Given the description of an element on the screen output the (x, y) to click on. 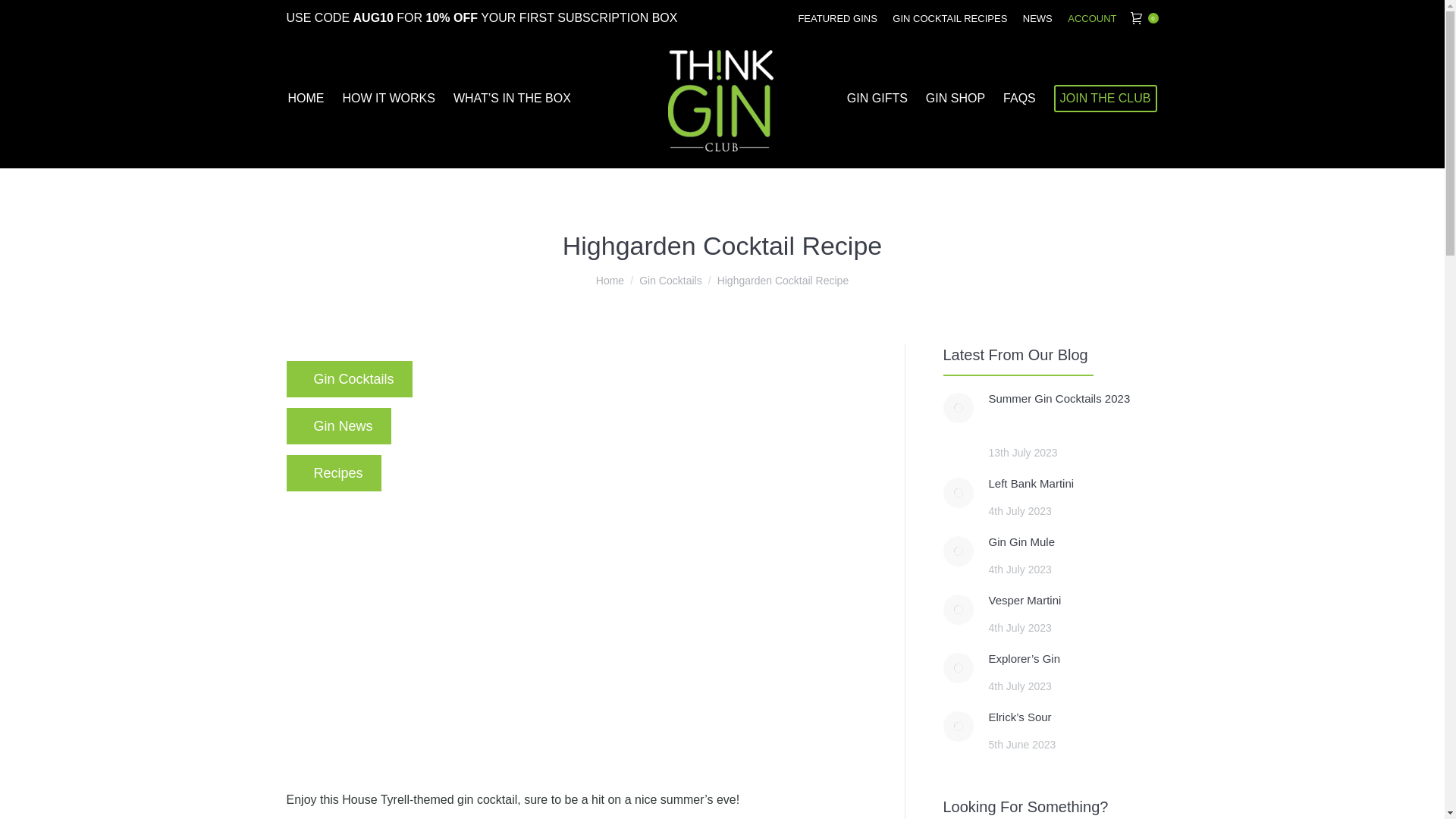
Recipes (333, 473)
Gin Cocktails (670, 280)
Home (609, 280)
ACCOUNT (1091, 17)
JOIN THE CLUB (1105, 98)
GIN COCKTAIL RECIPES (949, 17)
 0 (1143, 17)
Gin News (338, 425)
FEATURED GINS (837, 17)
NEWS (1037, 17)
